Given the description of an element on the screen output the (x, y) to click on. 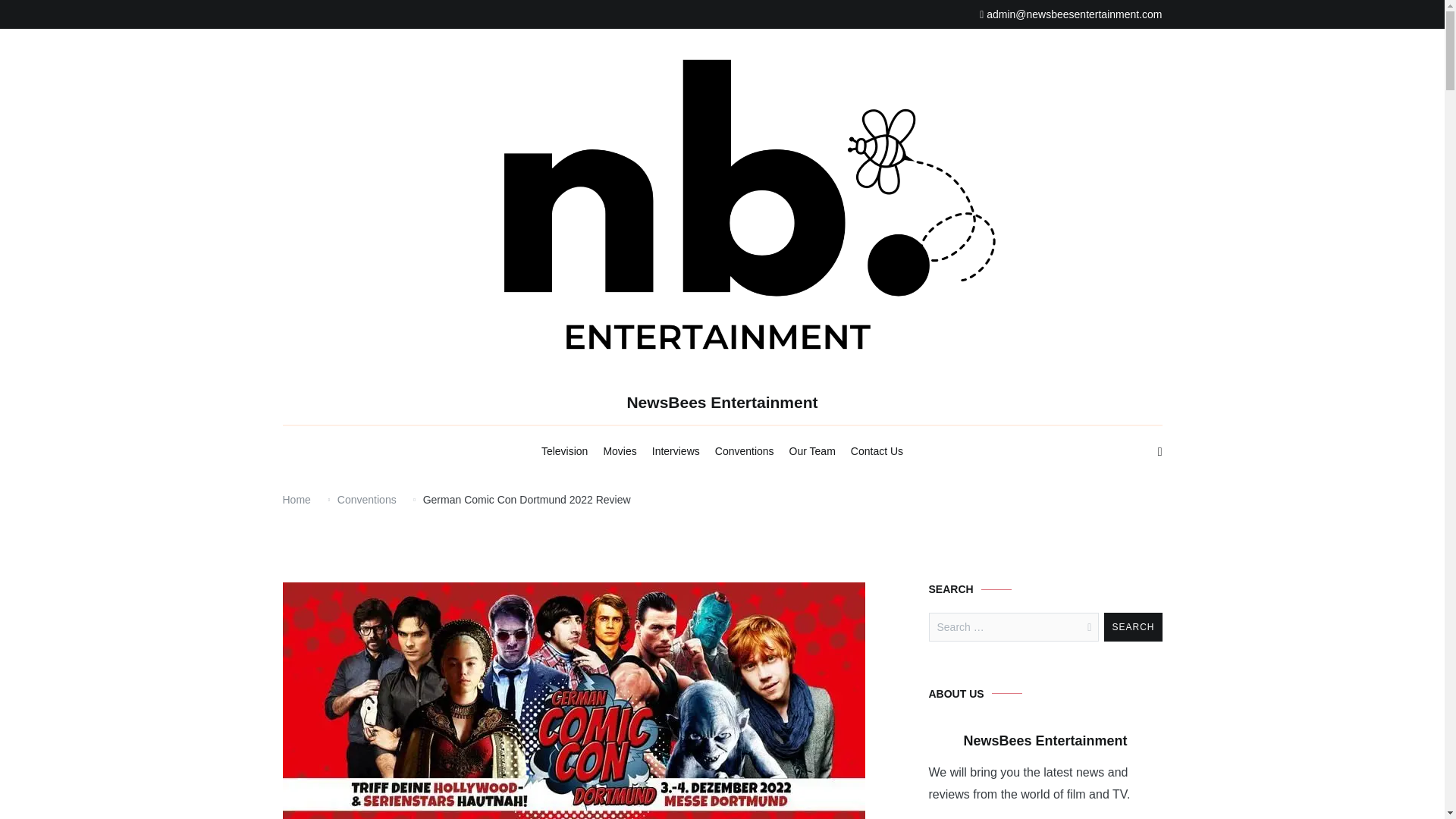
Search (1132, 626)
Conventions (366, 499)
Television (564, 452)
Our Team (812, 452)
Search (1132, 626)
Contact Us (876, 452)
Interviews (676, 452)
NewsBees Entertainment (721, 402)
Movies (619, 452)
Home (296, 499)
Conventions (744, 452)
